Given the description of an element on the screen output the (x, y) to click on. 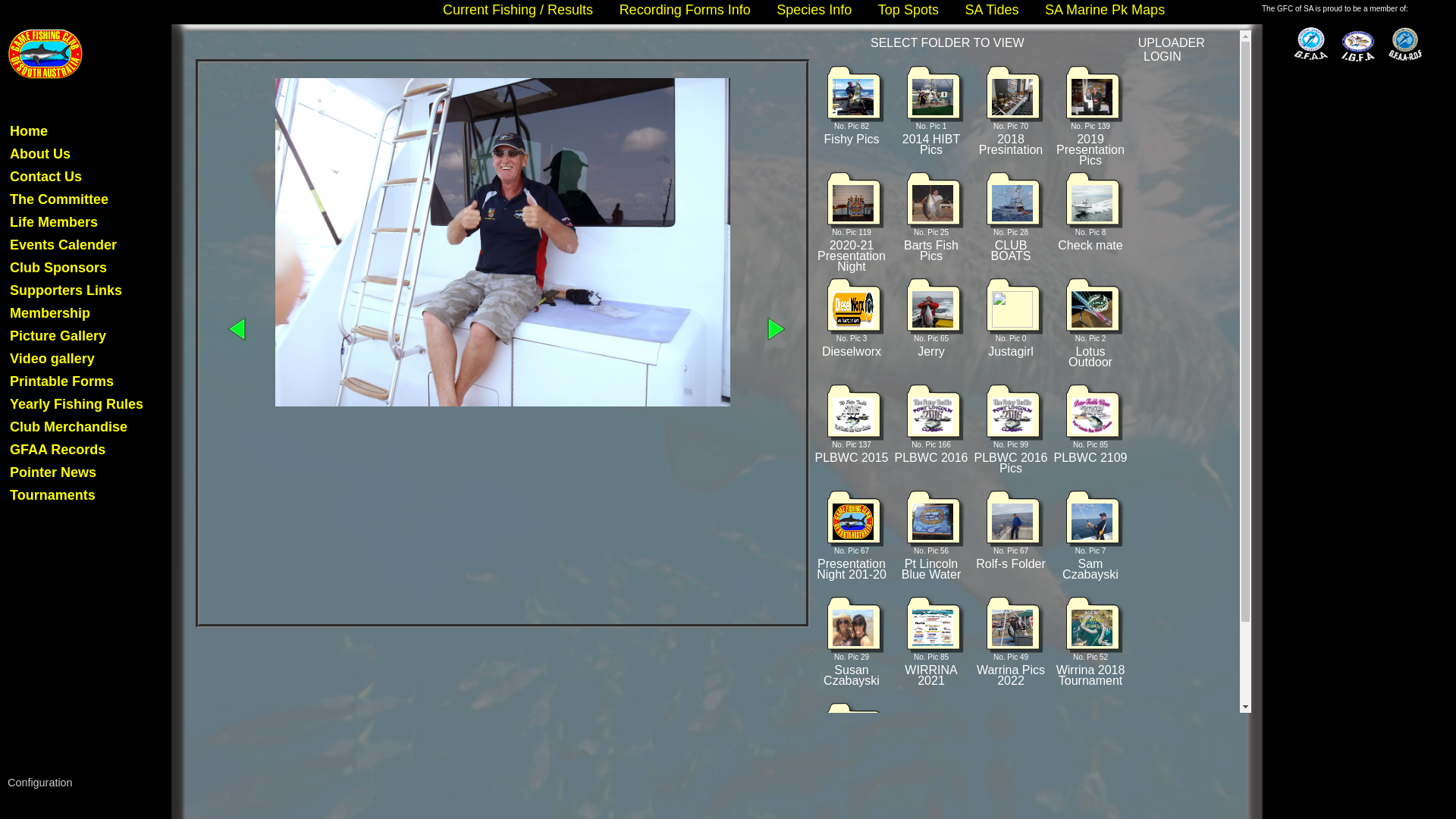
Species Info Element type: text (813, 9)
Tournaments Element type: text (52, 495)
Picture Gallery Element type: text (57, 336)
SA Marine Pk Maps Element type: text (1104, 9)
Pointer News Element type: text (52, 472)
Current Fishing / Results Element type: text (517, 9)
Video gallery Element type: text (51, 358)
Supporters Links Element type: text (65, 290)
The Committee Element type: text (58, 199)
Club Sponsors Element type: text (57, 267)
Life Members Element type: text (53, 222)
Membership Element type: text (49, 313)
Home Element type: text (28, 131)
Printable Forms Element type: text (61, 381)
About Us Element type: text (39, 154)
Top Spots Element type: text (908, 9)
GFAA Records Element type: text (57, 449)
Events Calender Element type: text (62, 245)
Recording Forms Info Element type: text (684, 9)
Contact Us Element type: text (45, 176)
Club Merchandise Element type: text (68, 427)
Yearly Fishing Rules Element type: text (76, 404)
SA Tides Element type: text (991, 9)
Configuration Element type: text (39, 782)
